Given the description of an element on the screen output the (x, y) to click on. 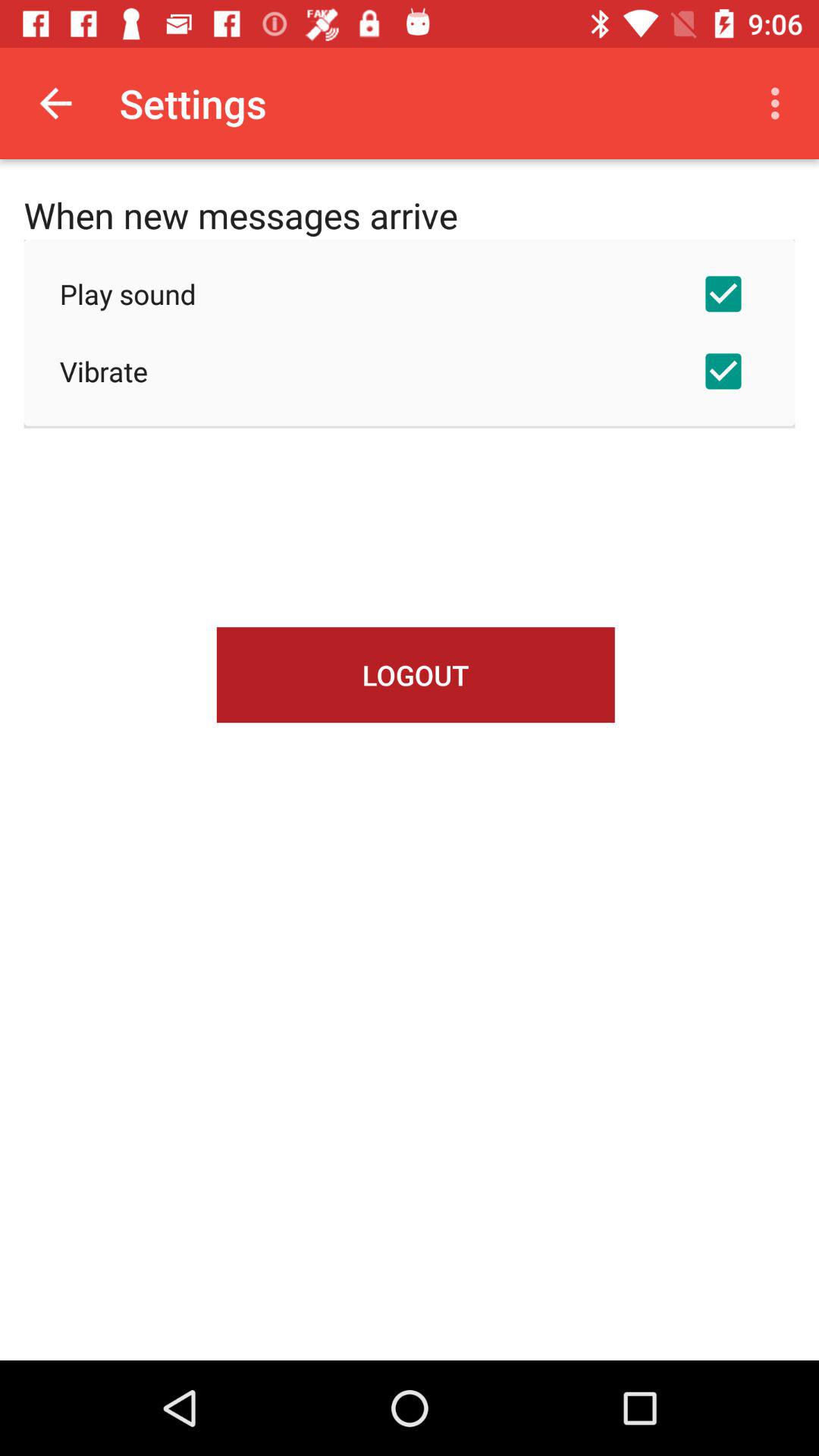
turn on the item at the center (415, 674)
